Given the description of an element on the screen output the (x, y) to click on. 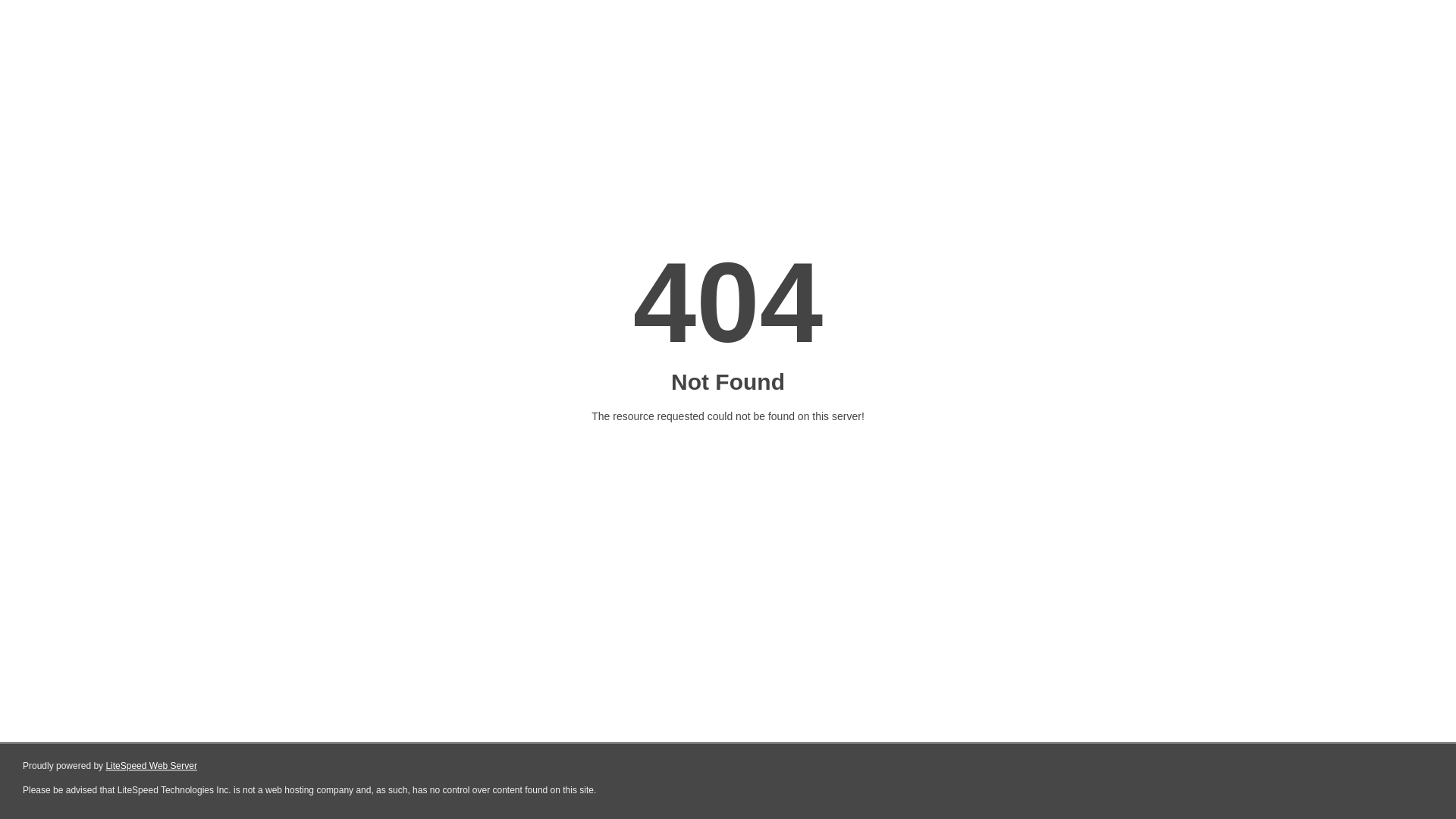
LiteSpeed Web Server Element type: text (151, 765)
